Given the description of an element on the screen output the (x, y) to click on. 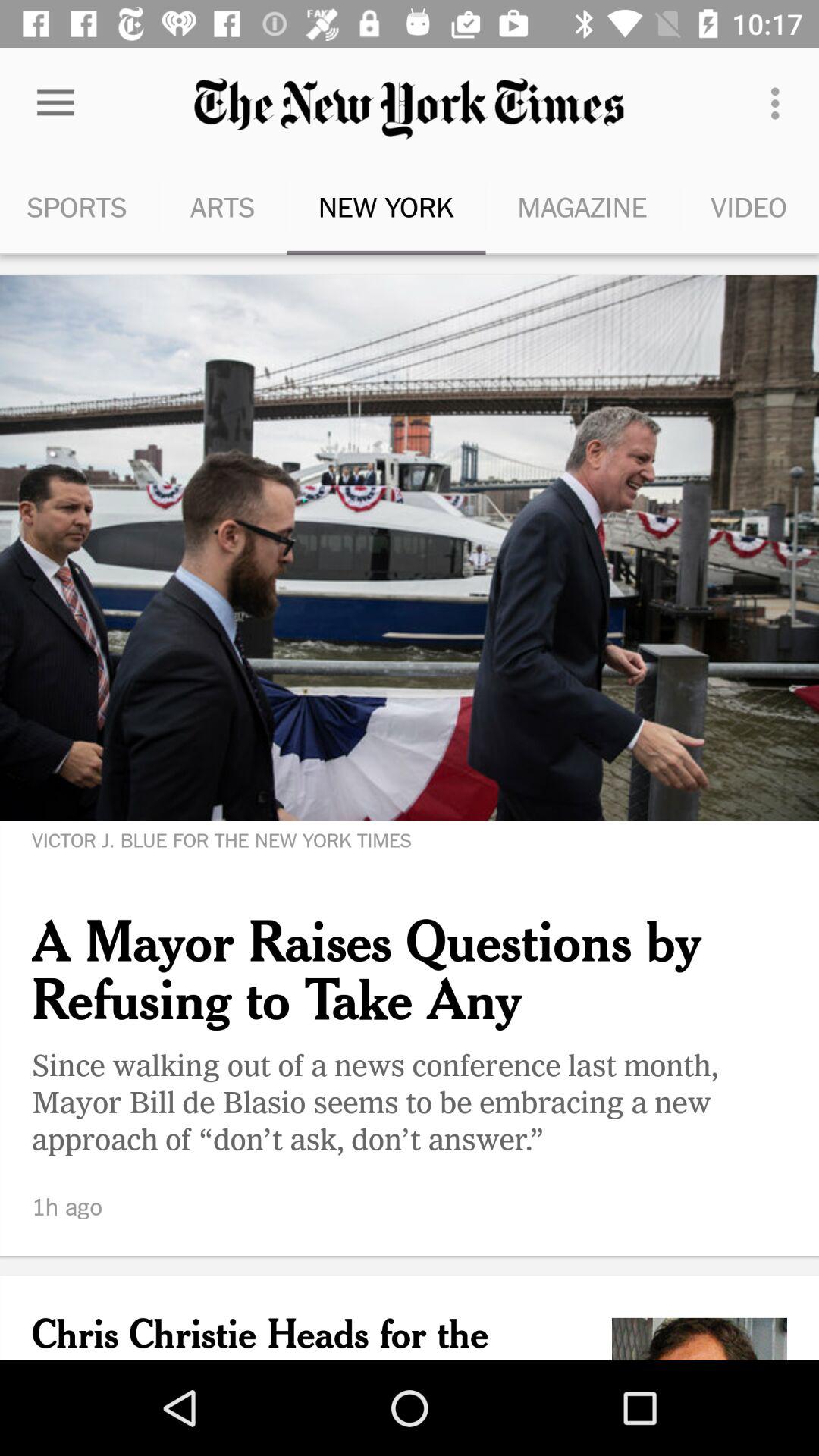
open item next to magazine icon (779, 103)
